Given the description of an element on the screen output the (x, y) to click on. 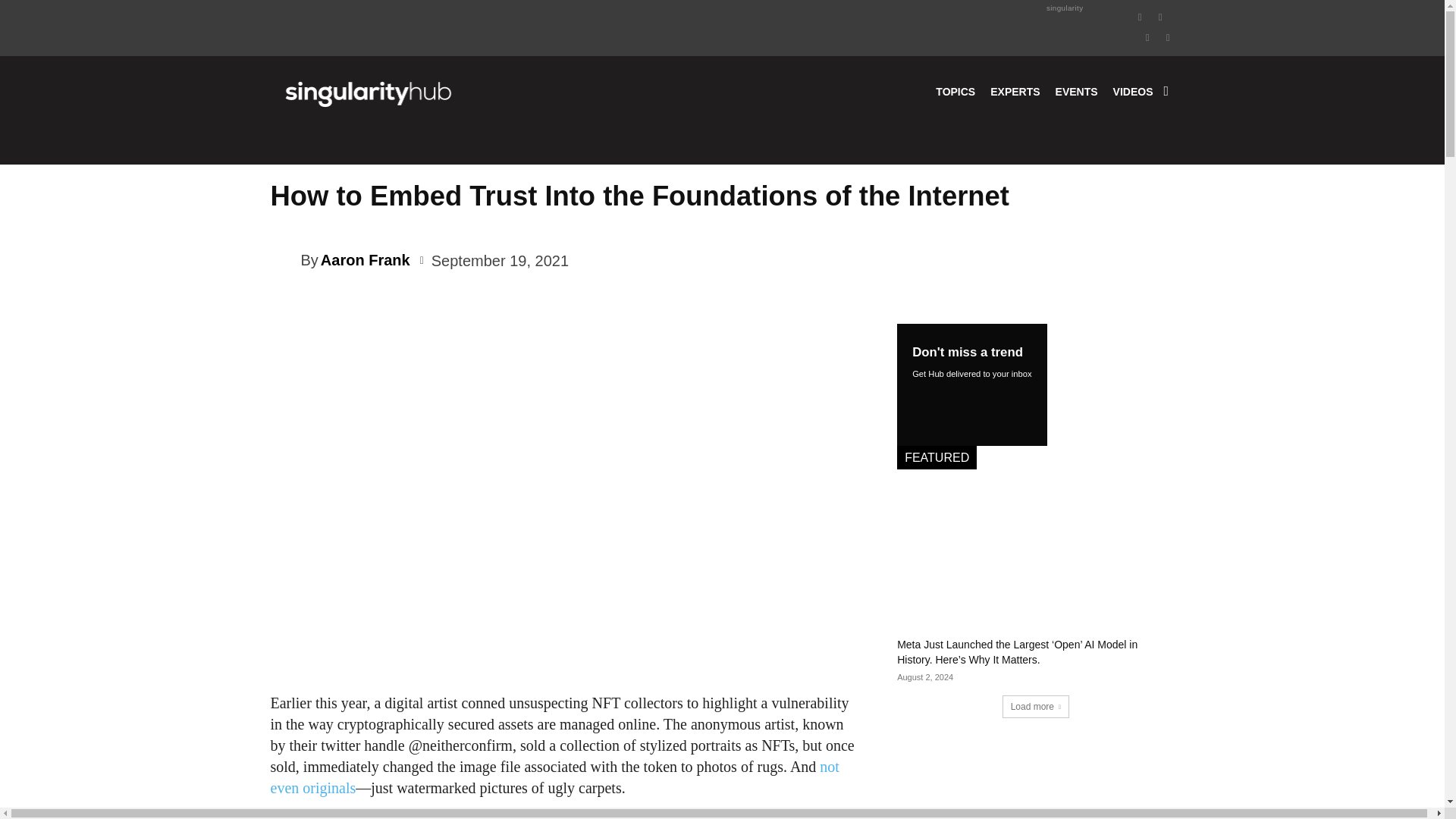
Instagram (1160, 15)
Youtube (1167, 35)
EXPERTS (1014, 91)
Aaron Frank (284, 259)
Facebook (1140, 15)
Twitter (1147, 35)
TOPICS (955, 91)
